Given the description of an element on the screen output the (x, y) to click on. 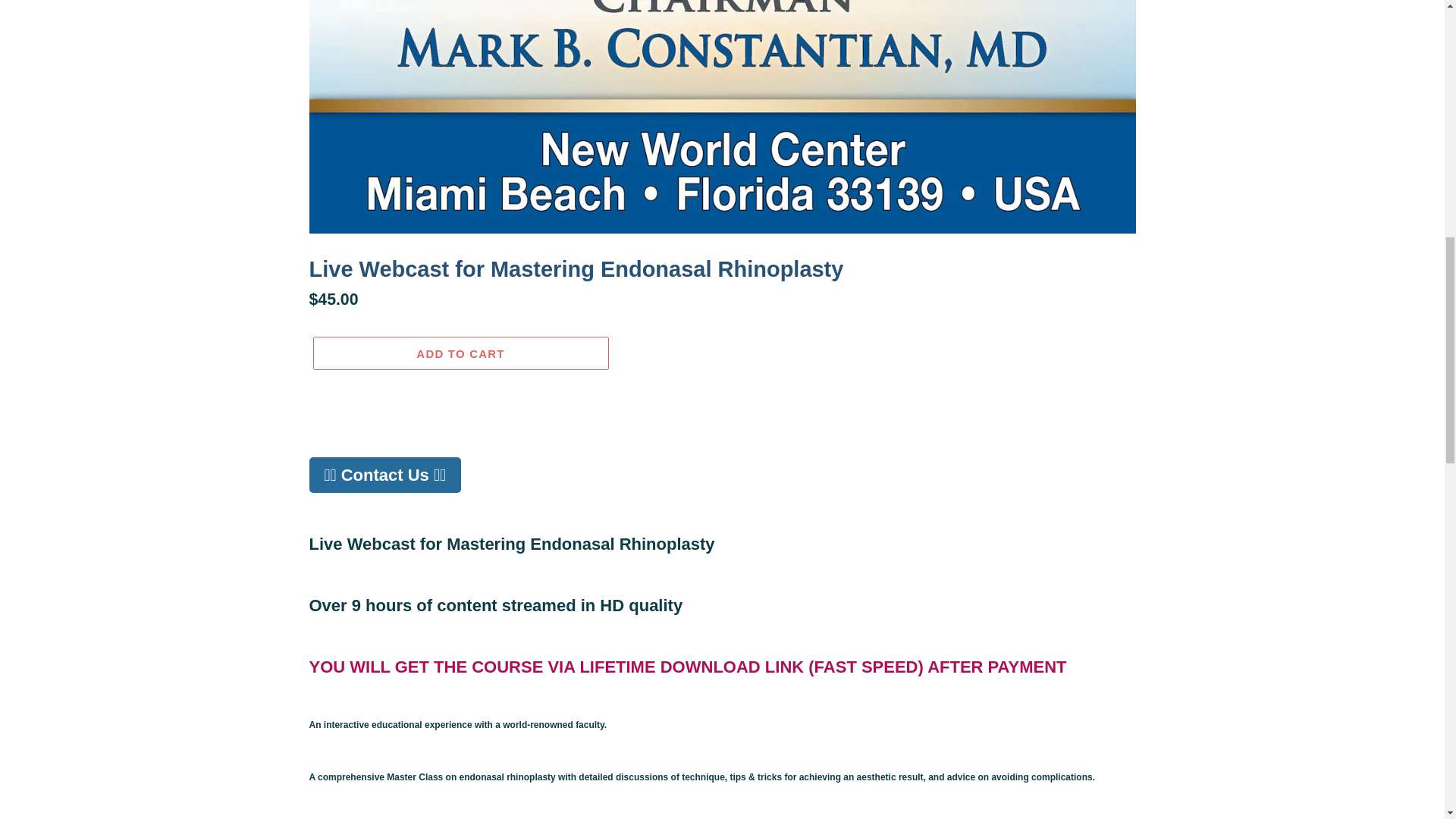
ADD TO CART (460, 353)
